Given the description of an element on the screen output the (x, y) to click on. 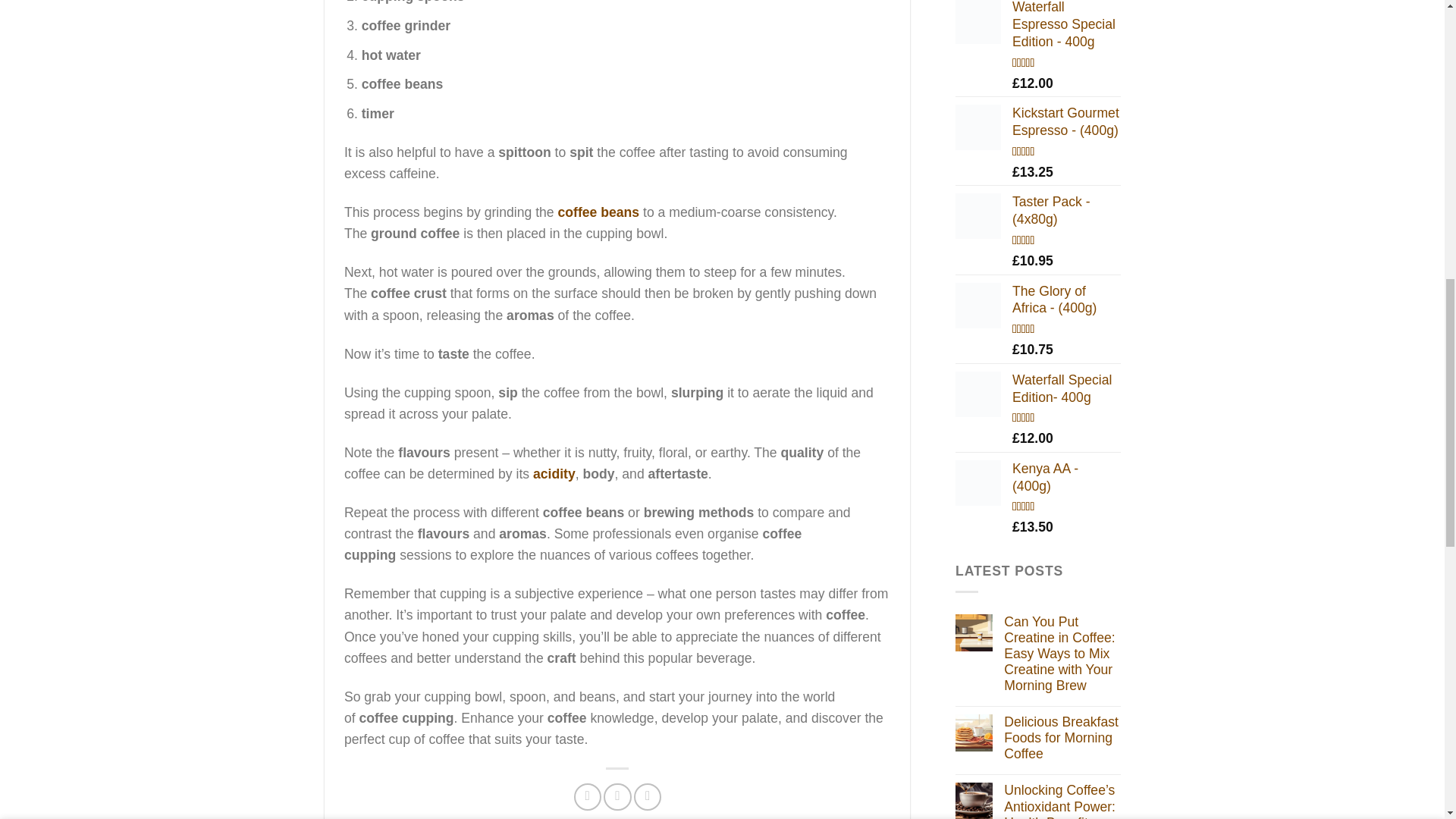
acidity (553, 473)
Delicious Breakfast Foods for Morning Coffee (1061, 738)
coffee beans (598, 212)
Pin on Pinterest (647, 796)
Share on Twitter (617, 796)
Share on Facebook (587, 796)
